Given the description of an element on the screen output the (x, y) to click on. 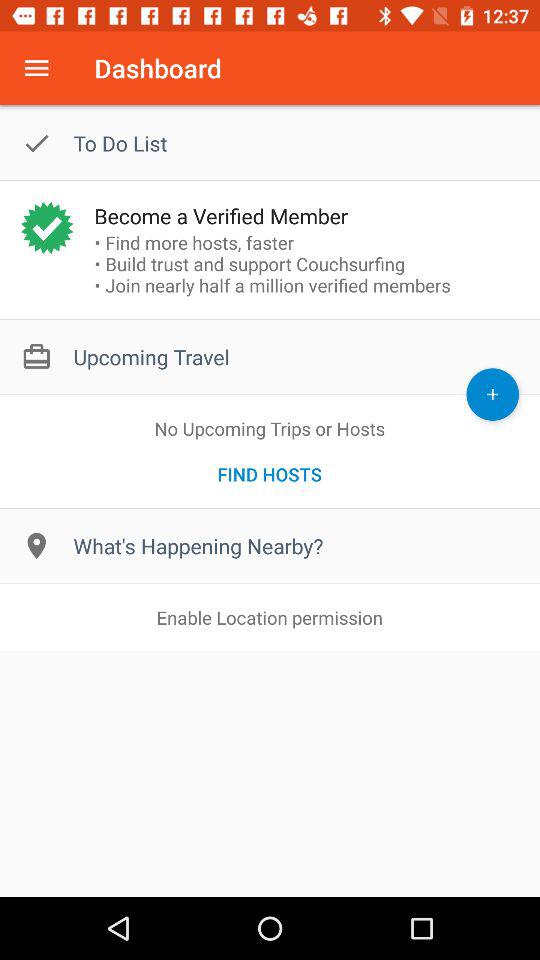
select the point (492, 394)
